Given the description of an element on the screen output the (x, y) to click on. 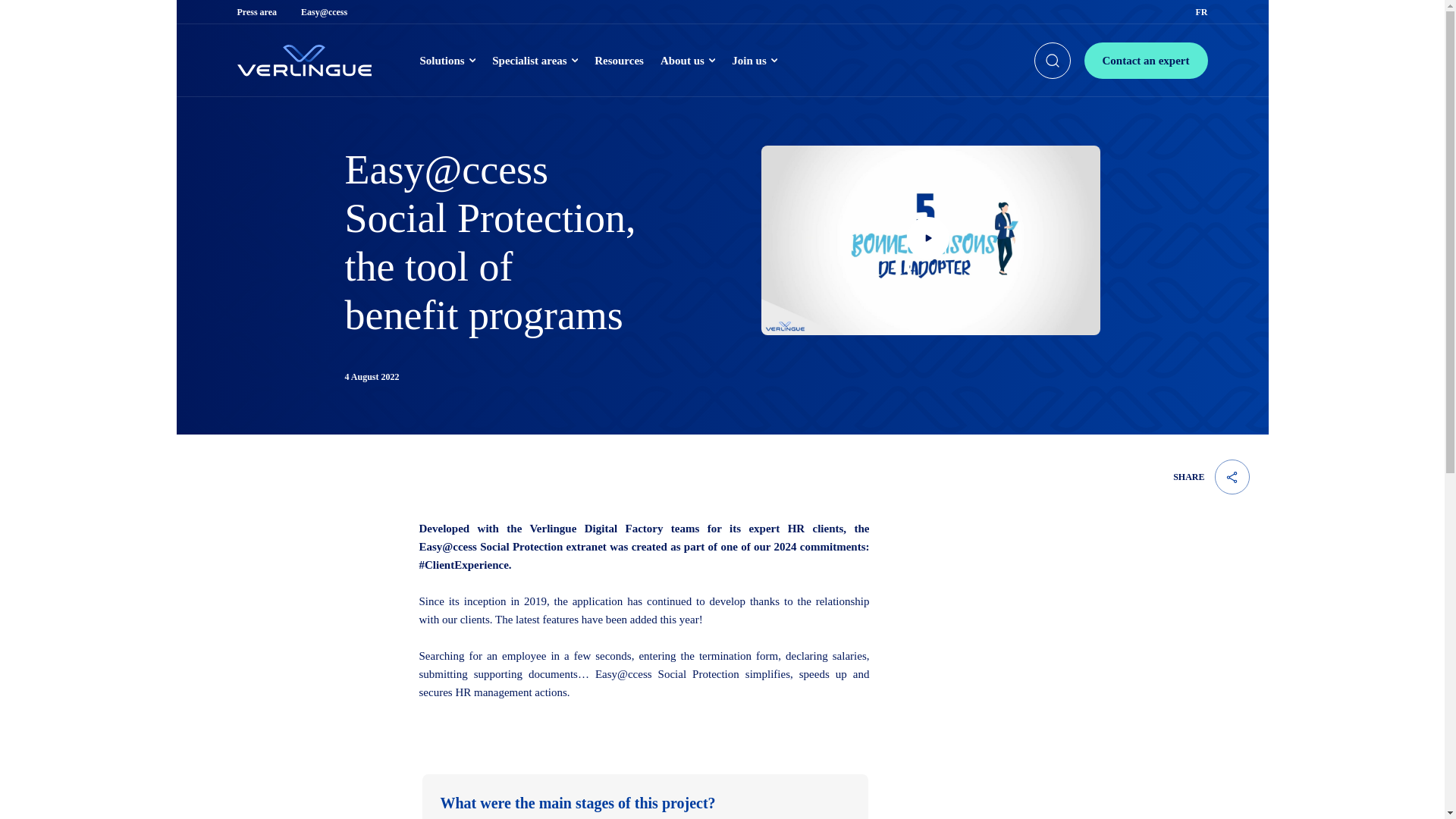
Specialist areas (535, 60)
Contact an expert (1146, 60)
FR (1201, 10)
Press area (255, 10)
Back to home page (303, 60)
